Given the description of an element on the screen output the (x, y) to click on. 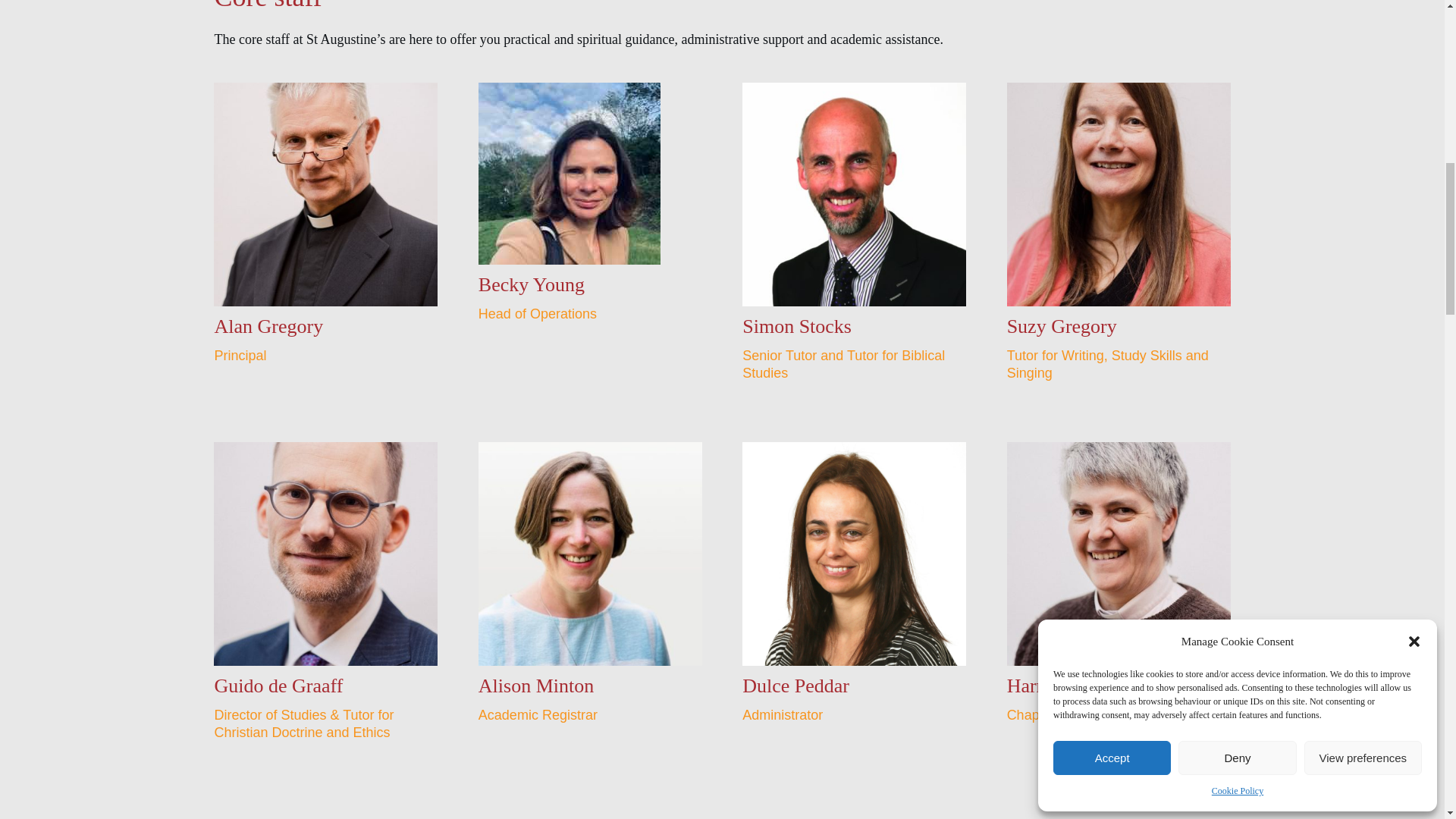
Federation House Residential 2023-95 (326, 553)
Federation House Residential 2023-97 (1118, 194)
Simon Stocks P87A9755 (854, 194)
linda-ridge-waite-st-augustines-staff (590, 810)
jenny-corcoran-st-augustines-staff (326, 810)
Dulce Peddar (854, 553)
small ry (570, 173)
alison-minton-st-augustines-staff (590, 553)
small vFederation House Residential 2023-91 (326, 194)
Federation House Residential 2023-81 (1118, 553)
